Given the description of an element on the screen output the (x, y) to click on. 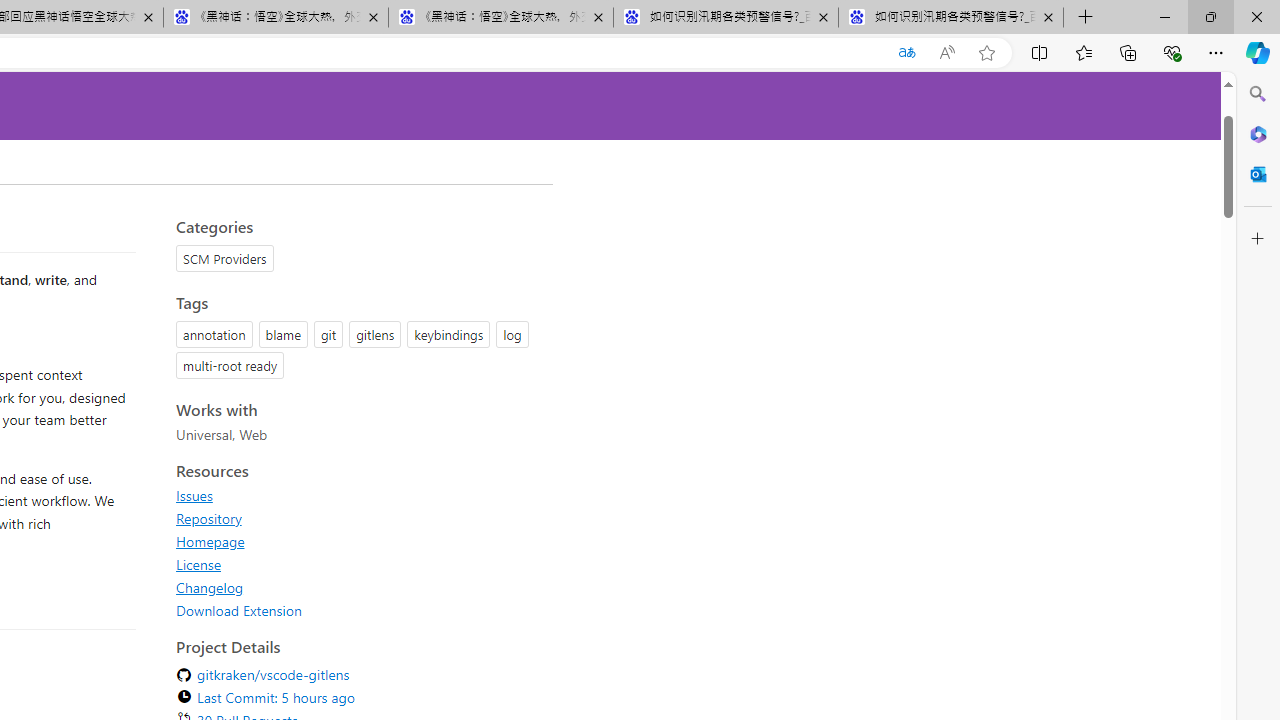
Repository (358, 518)
License (358, 564)
License (198, 564)
Issues (194, 495)
Repository (208, 518)
Changelog (210, 587)
